Given the description of an element on the screen output the (x, y) to click on. 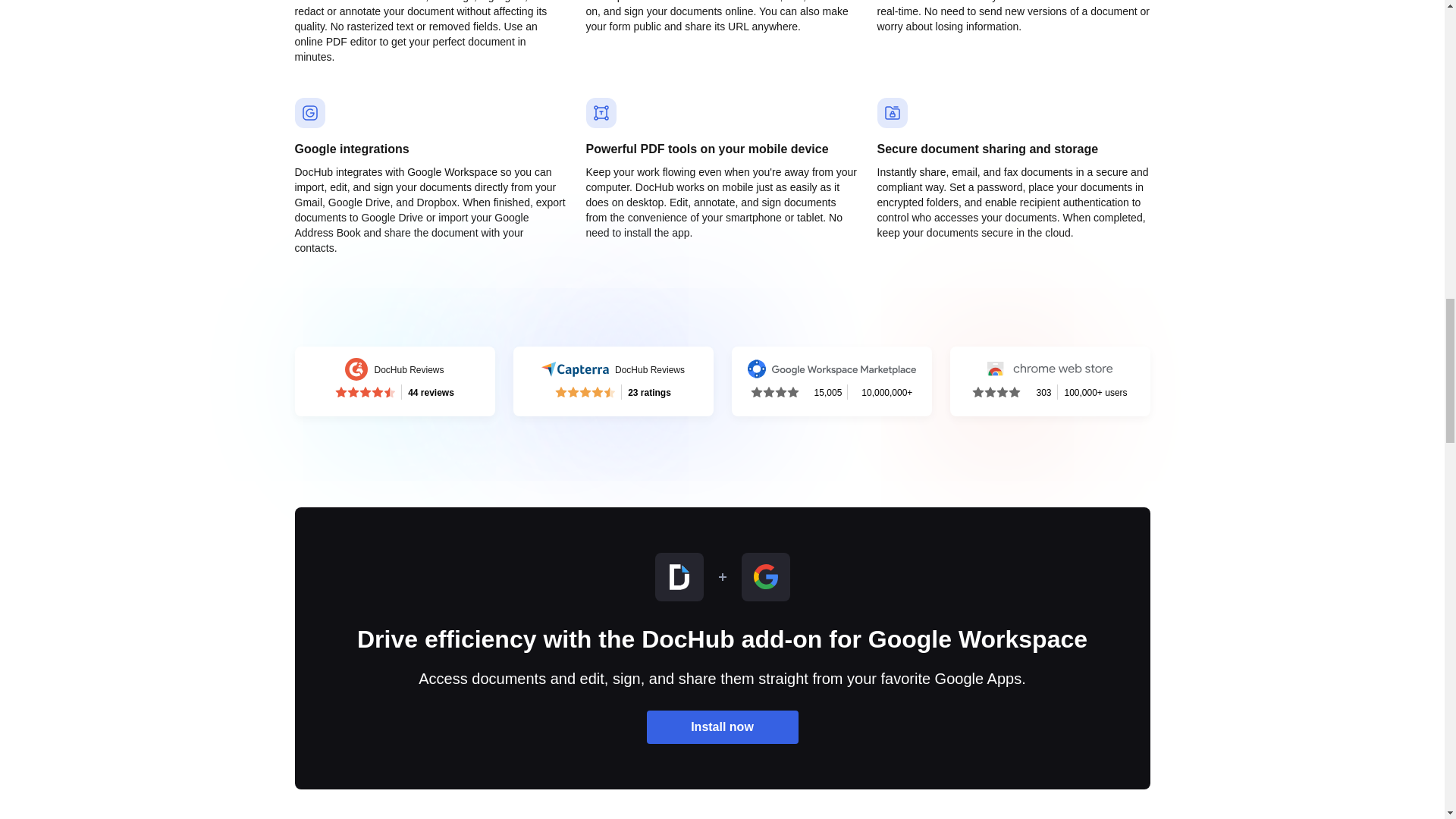
Install now (612, 381)
